Given the description of an element on the screen output the (x, y) to click on. 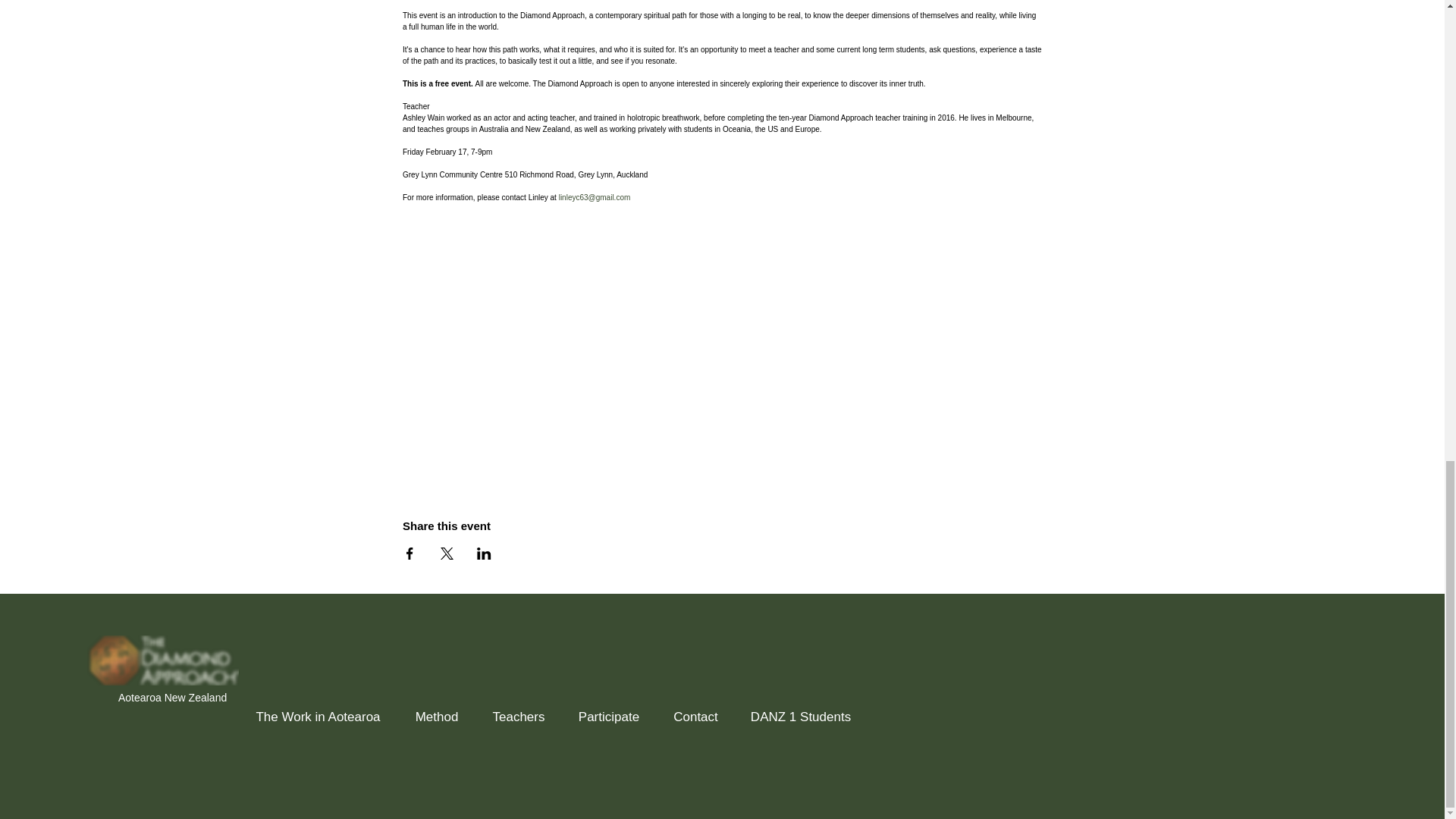
DANZ 1 Students (800, 710)
Contact (695, 710)
Method (436, 710)
The Work in Aotearoa (317, 710)
Participate (608, 710)
Teachers (518, 710)
